Given the description of an element on the screen output the (x, y) to click on. 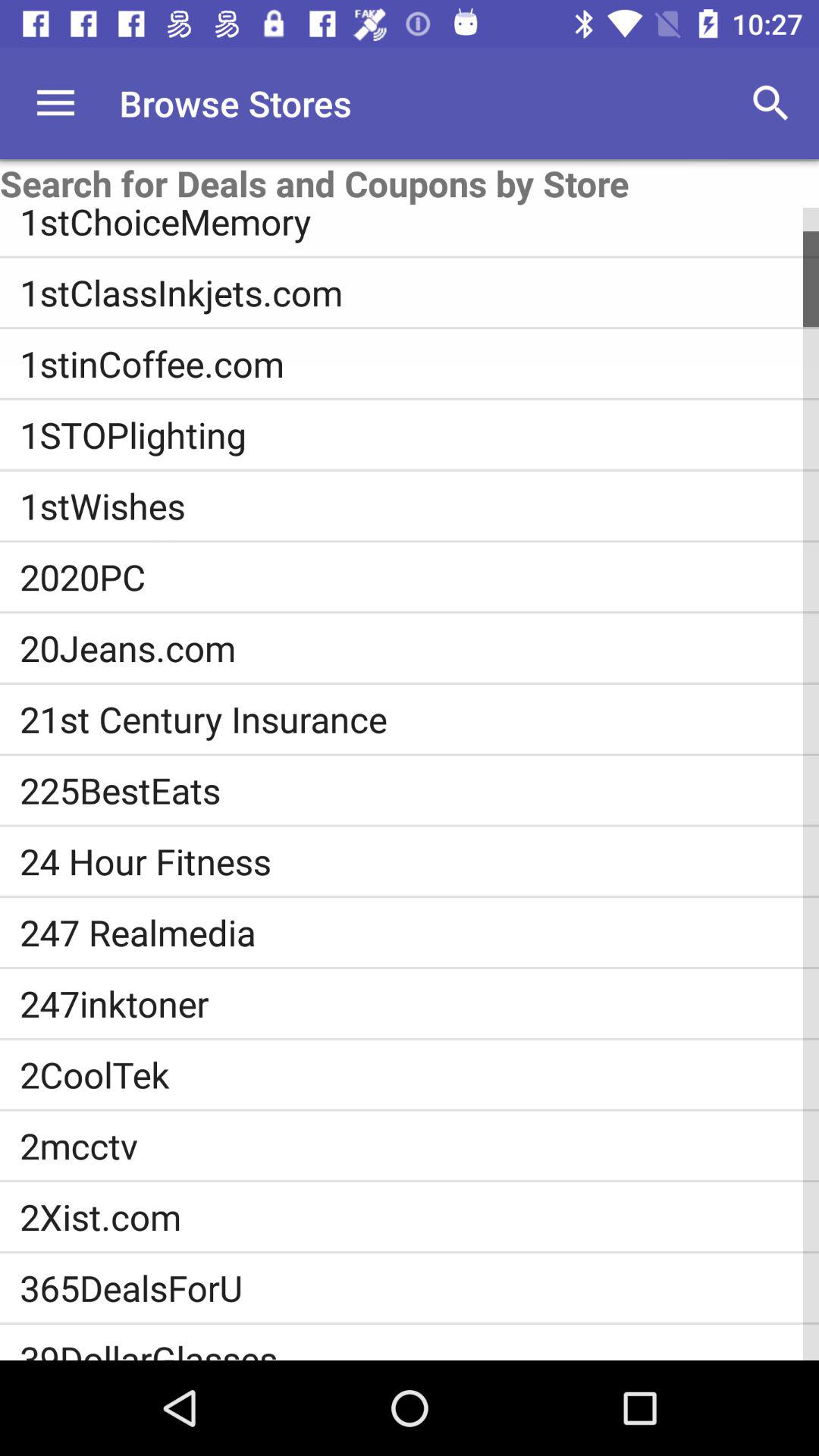
browsestores (55, 103)
